Given the description of an element on the screen output the (x, y) to click on. 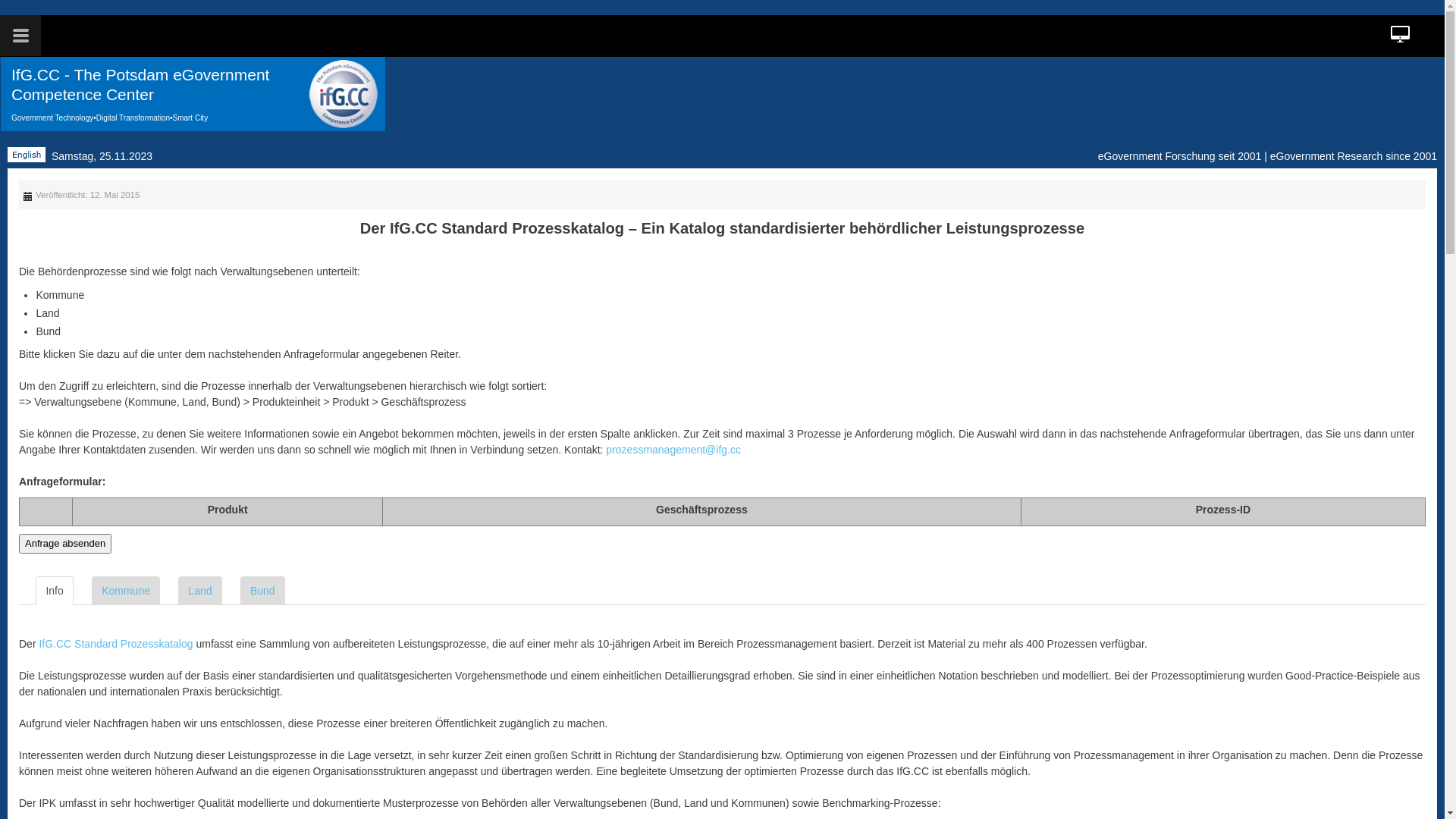
IfG.CC Standard Prozesskatalog Element type: text (115, 643)
English (UK) Element type: hover (26, 154)
prozessmanagement@ifg.cc Element type: text (672, 449)
Info Element type: text (53, 590)
Land Element type: text (199, 590)
Kommune Element type: text (125, 590)
Anfrage absenden Element type: text (64, 543)
Bund Element type: text (262, 590)
